Given the description of an element on the screen output the (x, y) to click on. 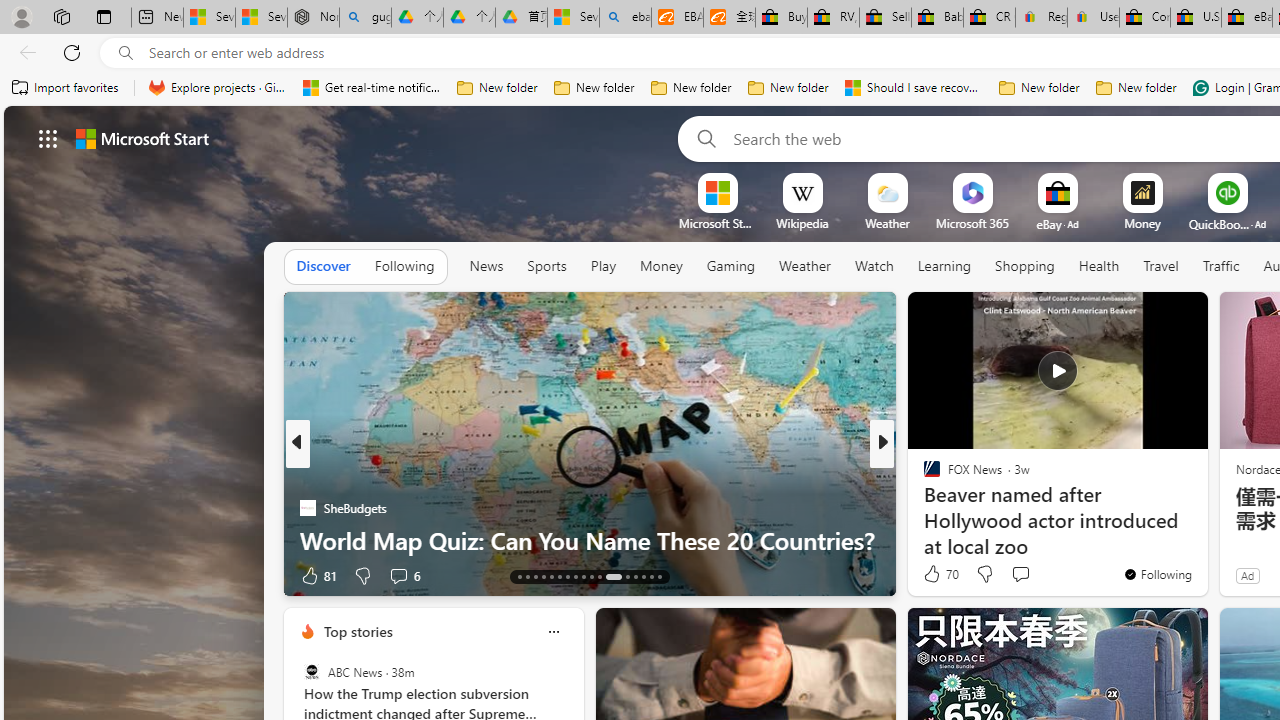
AutomationID: tab-22 (591, 576)
Money (661, 267)
81 Like (317, 574)
Traffic (1220, 265)
Men's Health (923, 475)
AutomationID: tab-24 (613, 576)
AutomationID: tab-19 (567, 576)
